Given the description of an element on the screen output the (x, y) to click on. 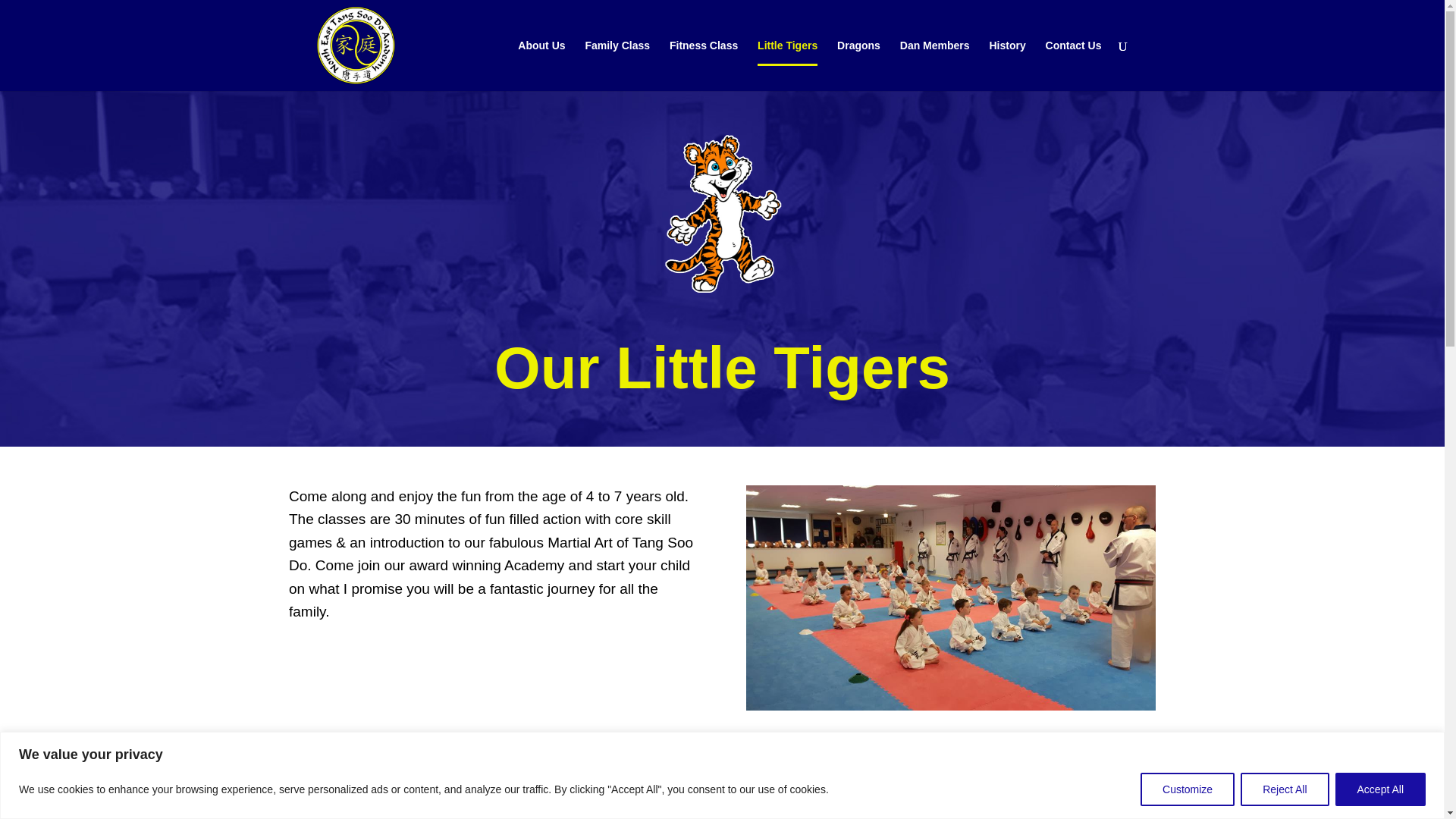
Family Class (617, 65)
Contact Us (1073, 65)
Reject All (1283, 788)
Dan Members (934, 65)
Fitness Class (703, 65)
Customize (1187, 788)
Accept All (1380, 788)
Little Tigers (786, 65)
About Us (541, 65)
